Given the description of an element on the screen output the (x, y) to click on. 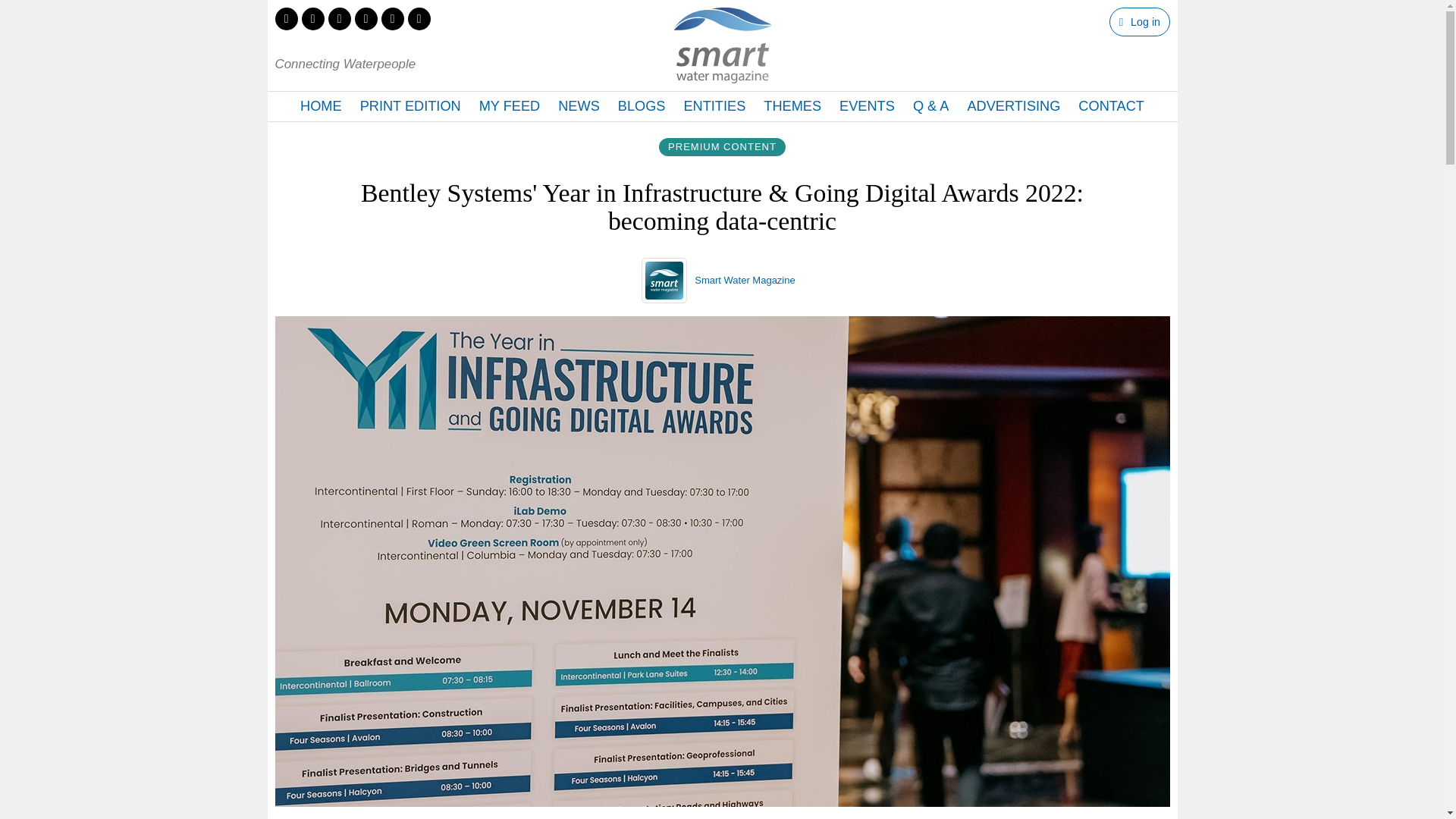
Follow us on Instagram (366, 18)
Log in (1139, 21)
EVENTS (866, 106)
Smart Water Magazine (744, 279)
THEMES (791, 106)
Subscribe to our newsletter (418, 18)
Follow us on Facebook (312, 18)
Smart Water Magazine (744, 279)
HOME (320, 106)
ADVERTISING (1013, 106)
